Given the description of an element on the screen output the (x, y) to click on. 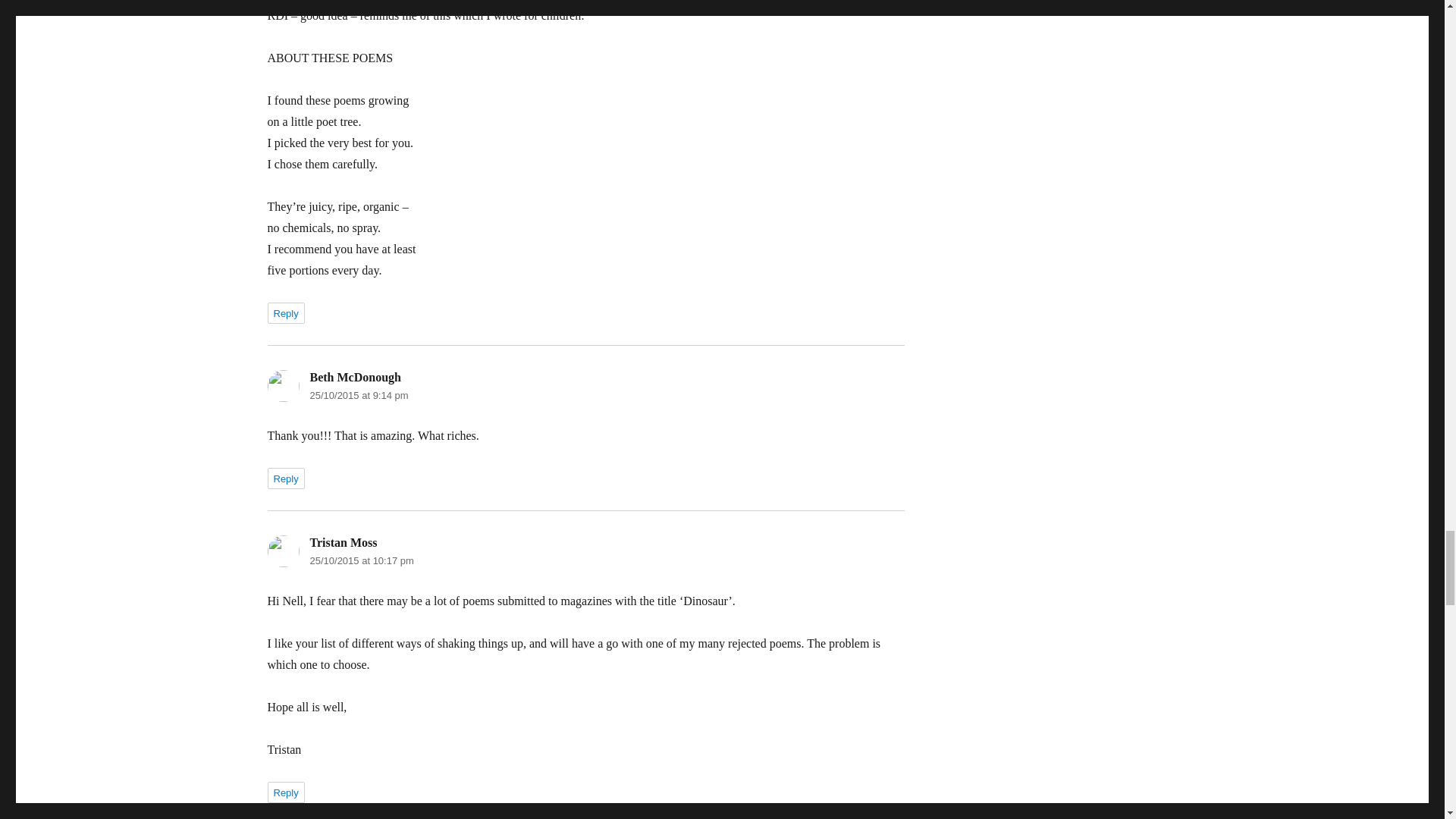
Reply (285, 312)
Reply (285, 792)
Reply (285, 477)
